Given the description of an element on the screen output the (x, y) to click on. 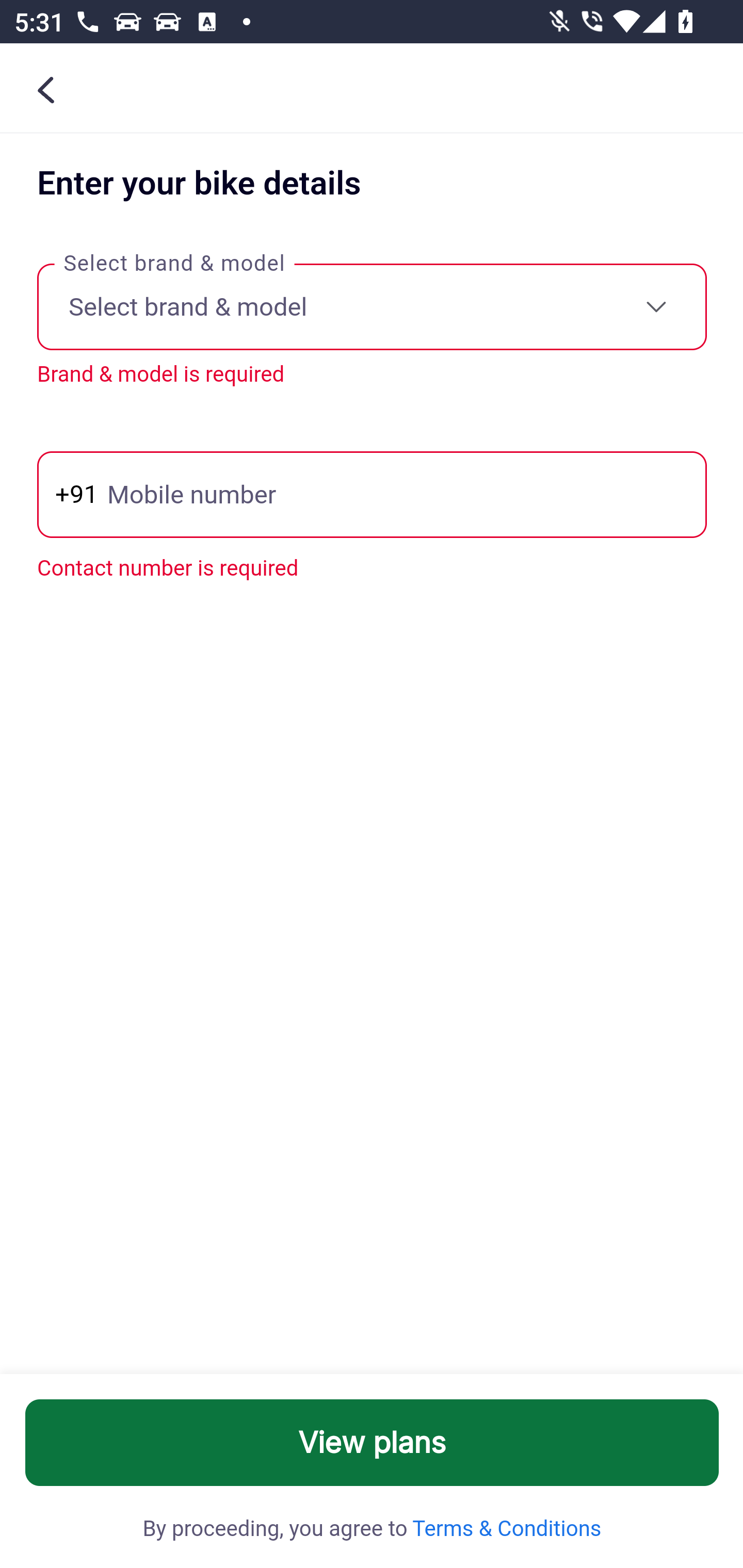
Mobile number  (372, 494)
View plans (372, 1443)
 Terms & Conditions (504, 1529)
